Given the description of an element on the screen output the (x, y) to click on. 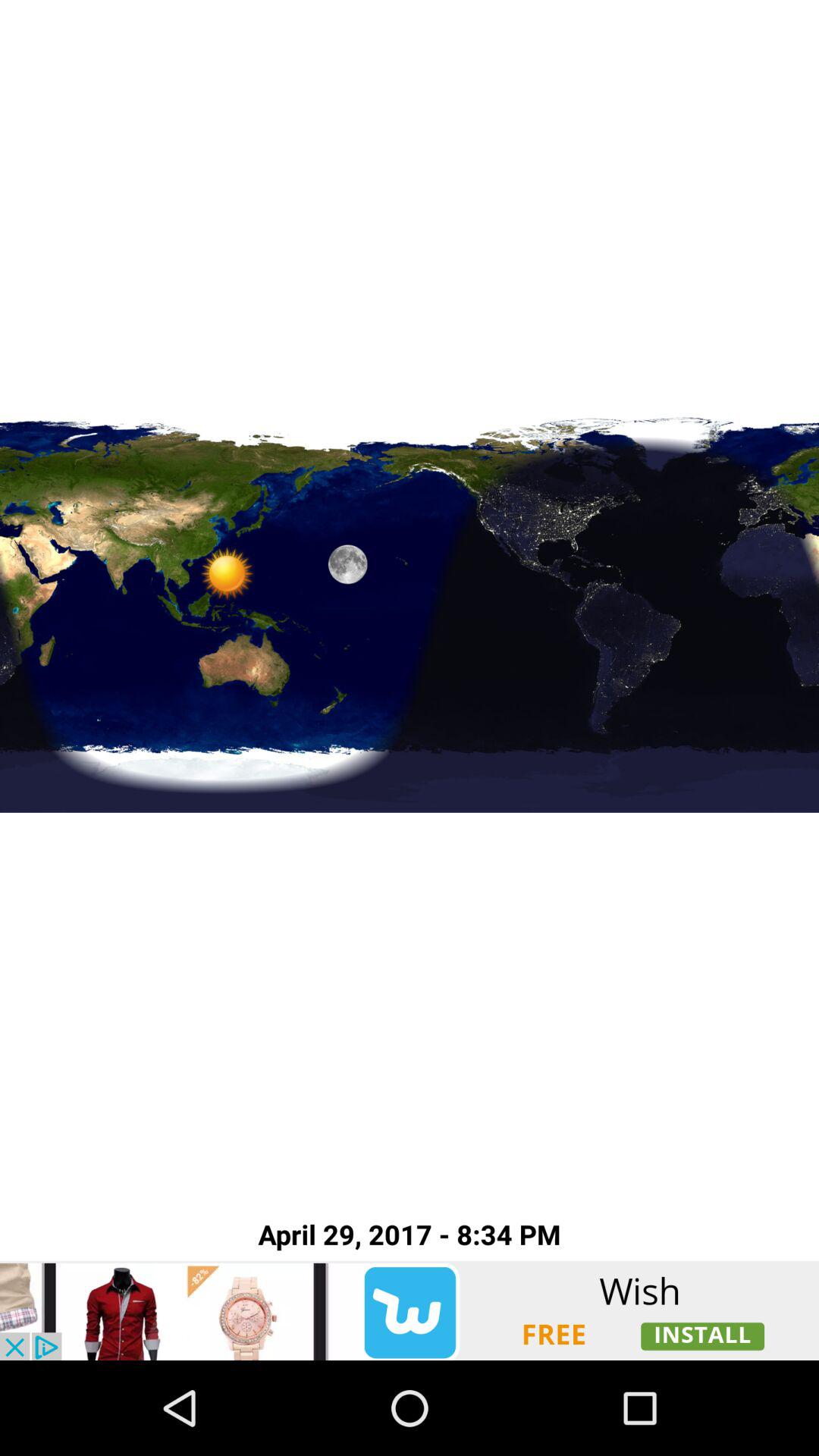
advertisement button (409, 1310)
